Given the description of an element on the screen output the (x, y) to click on. 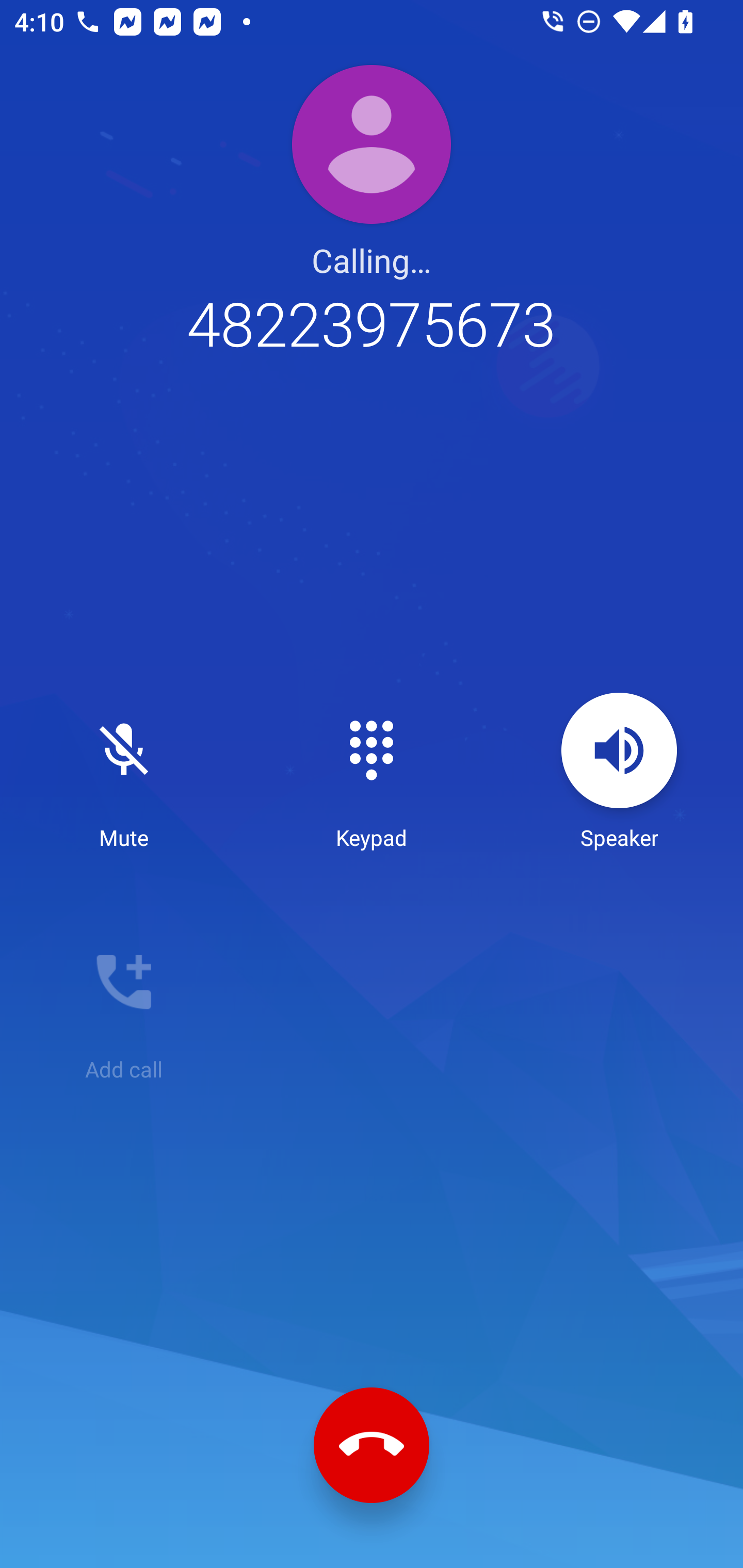
Unmuted Mute (123, 772)
Keypad (371, 772)
Speaker, is on Speaker (619, 772)
Add call (123, 1004)
End call (371, 1445)
